Given the description of an element on the screen output the (x, y) to click on. 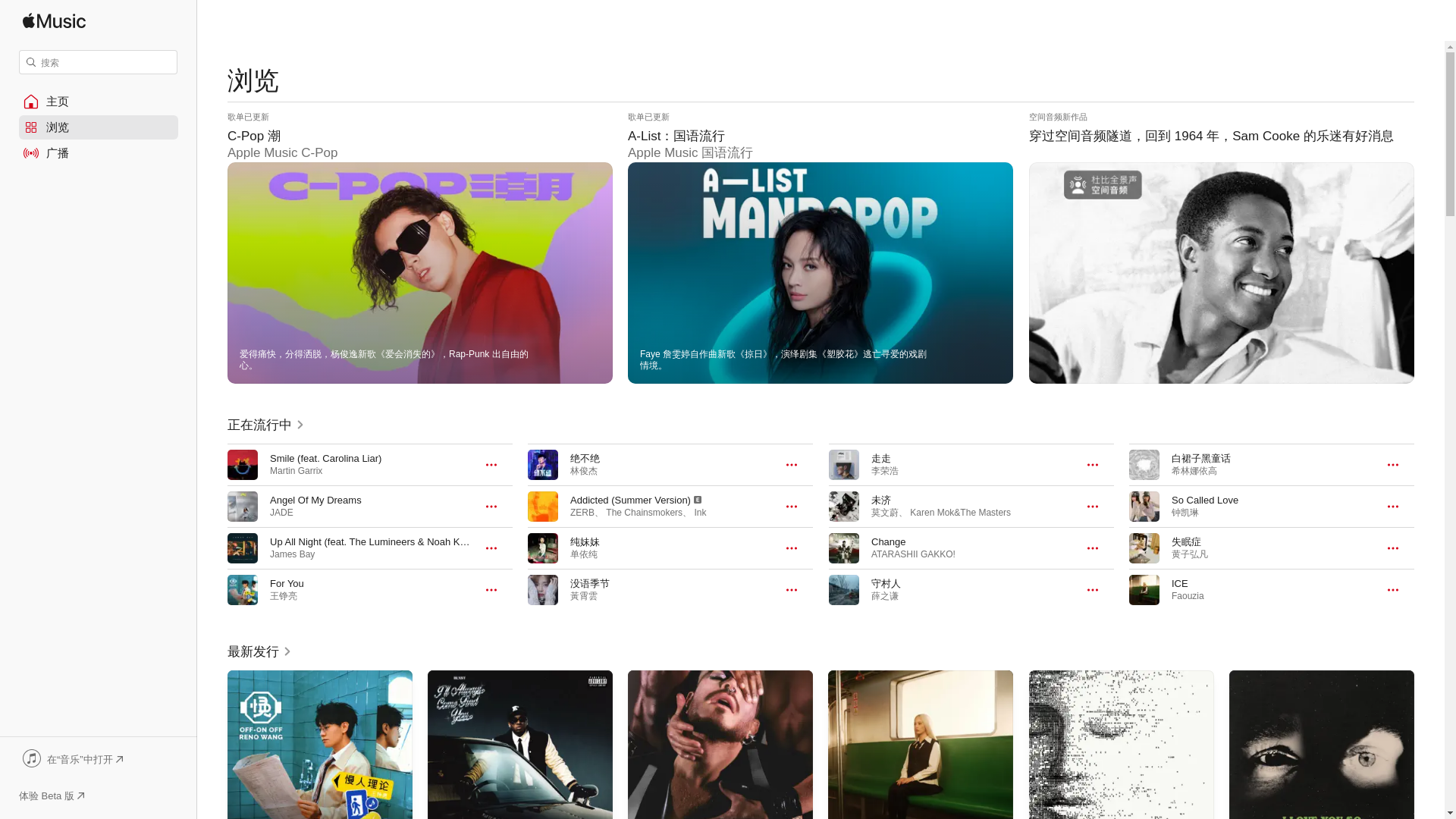
Martin Garrix (295, 470)
Angel Of My Dreams (315, 500)
James Bay (291, 553)
JADE (281, 511)
For You (286, 583)
